Given the description of an element on the screen output the (x, y) to click on. 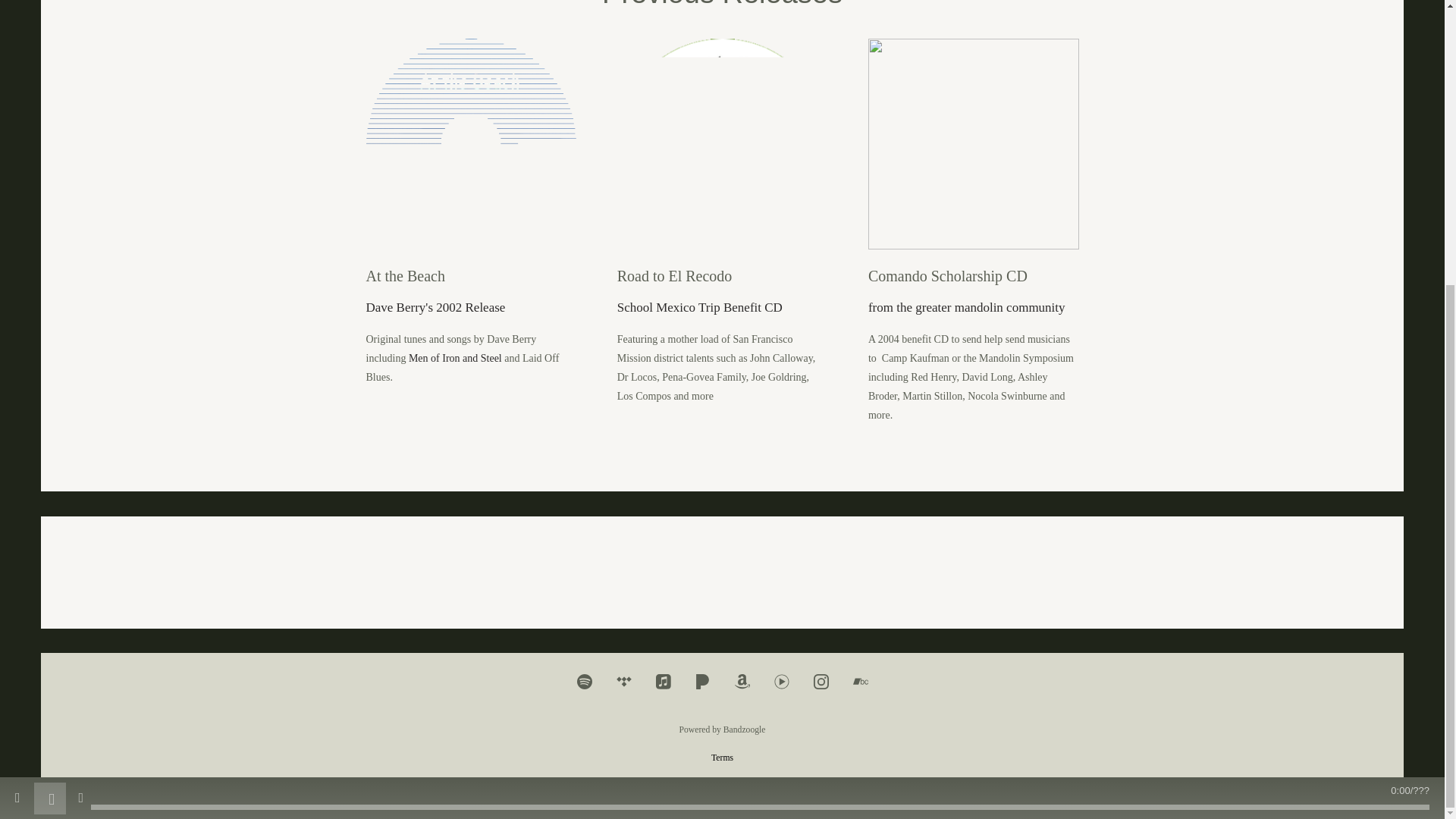
Powered by Bandzoogle (722, 729)
